Given the description of an element on the screen output the (x, y) to click on. 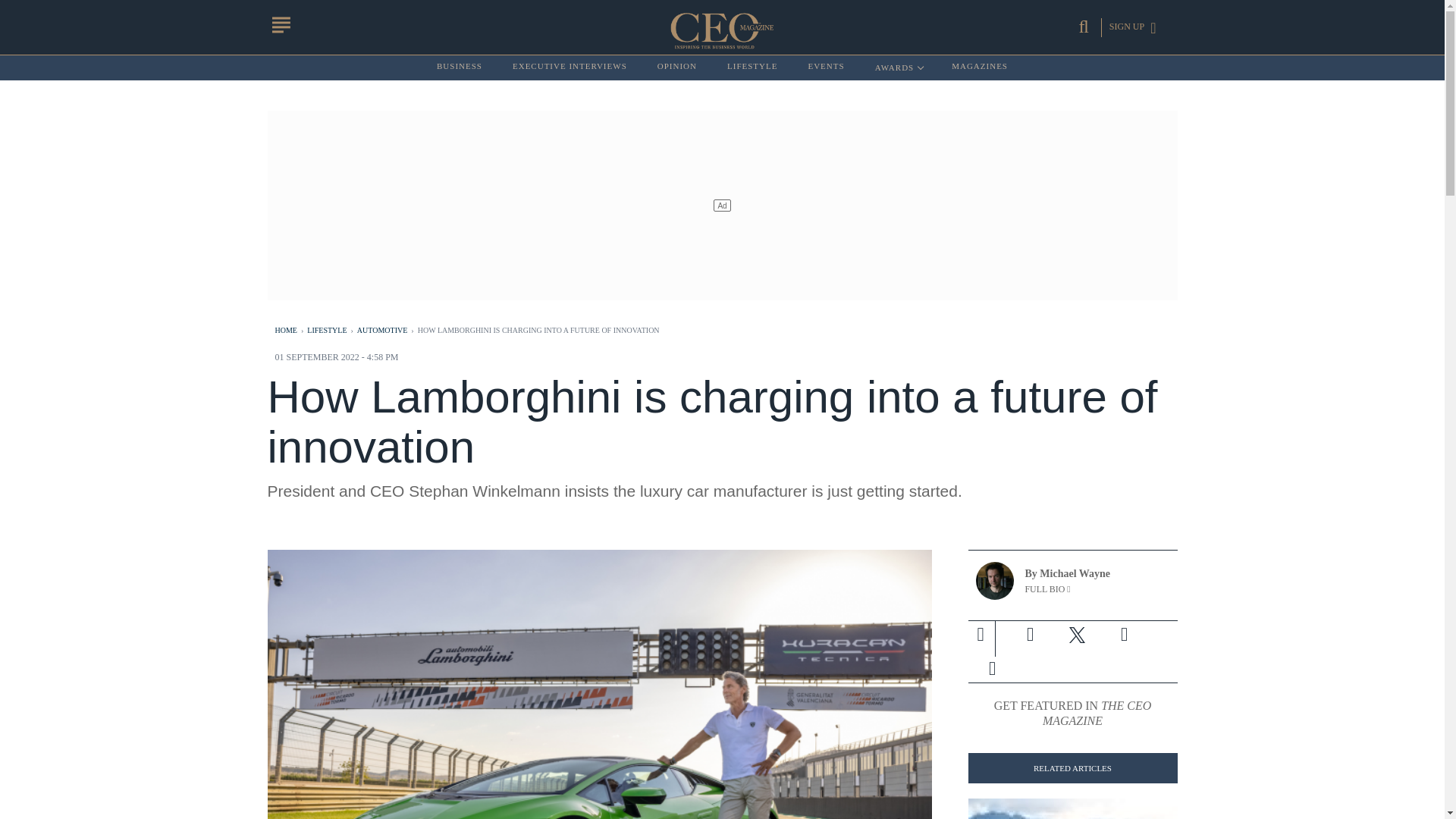
EXECUTIVE INTERVIEWS (569, 66)
Opinion (677, 66)
Share to Twitter (1076, 634)
Sign-up (991, 668)
LIFESTYLE (751, 66)
MAGAZINES (979, 66)
GET FEATURED IN THE CEO MAGAZINE (1072, 713)
Executive Interviews (569, 66)
